Given the description of an element on the screen output the (x, y) to click on. 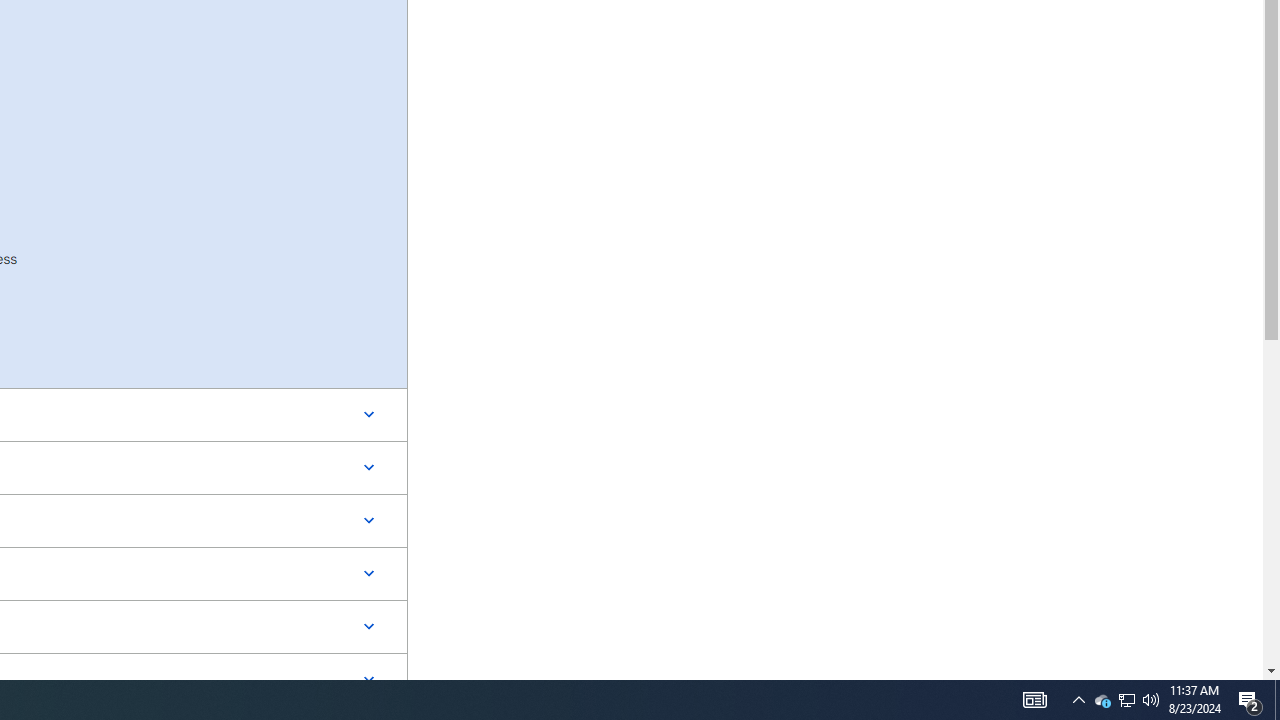
Show desktop (1277, 699)
User Promoted Notification Area (1126, 699)
AutomationID: 4105 (1126, 699)
Q2790: 100% (1034, 699)
Action Center, 2 new notifications (1151, 699)
Notification Chevron (1250, 699)
